Given the description of an element on the screen output the (x, y) to click on. 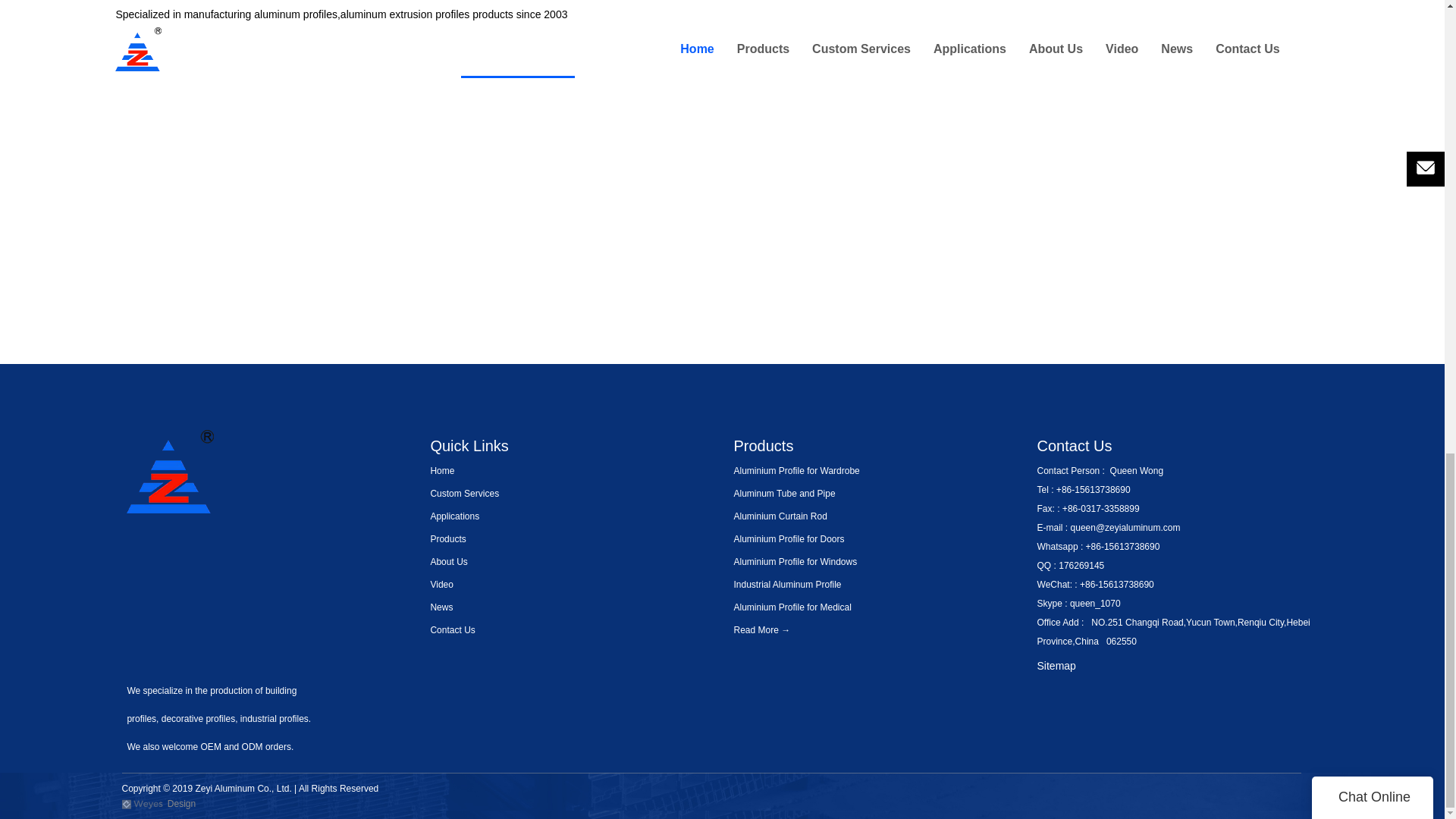
Send Inquiry Now (518, 65)
